Given the description of an element on the screen output the (x, y) to click on. 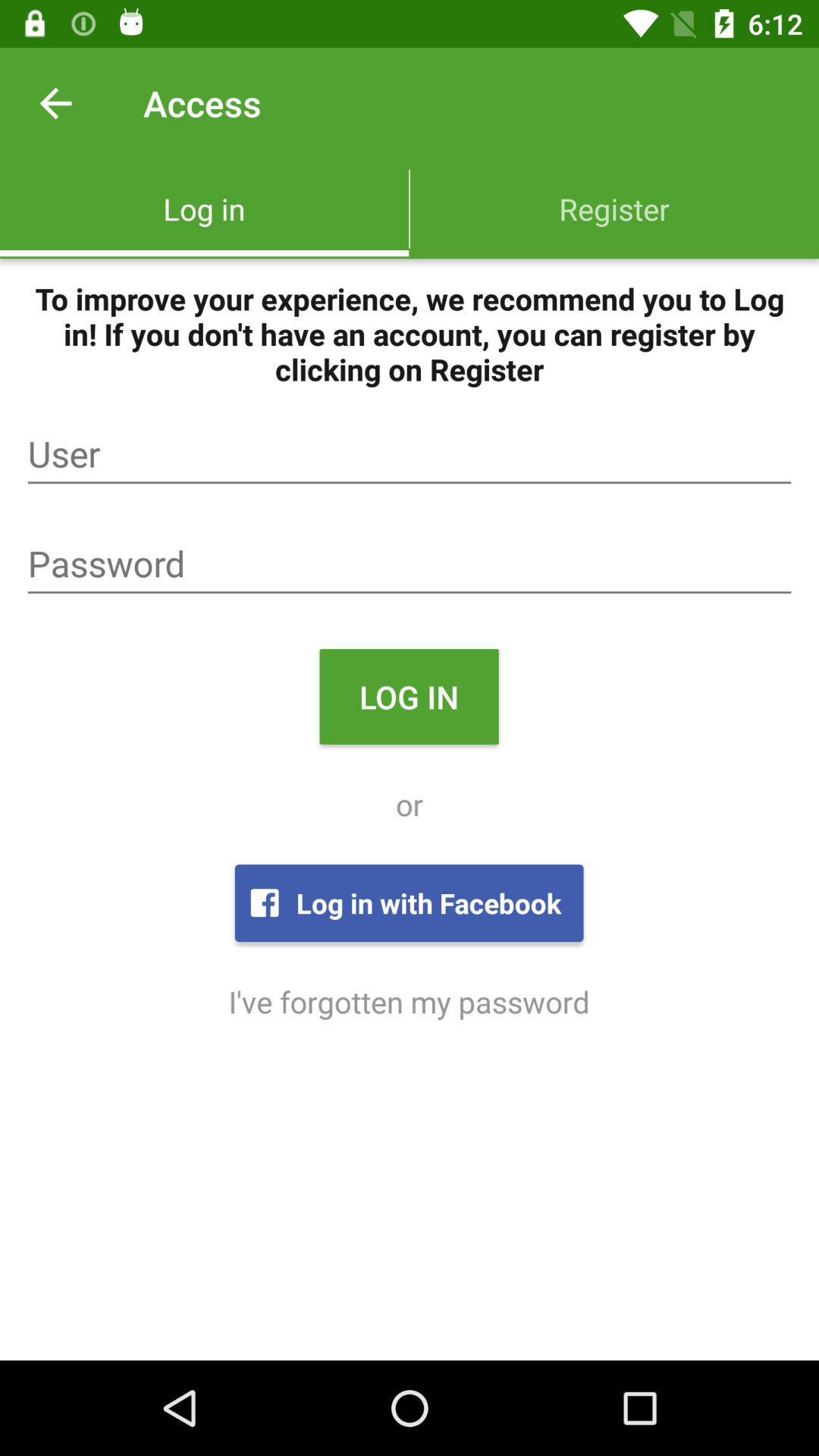
turn off icon to the left of access item (55, 103)
